Given the description of an element on the screen output the (x, y) to click on. 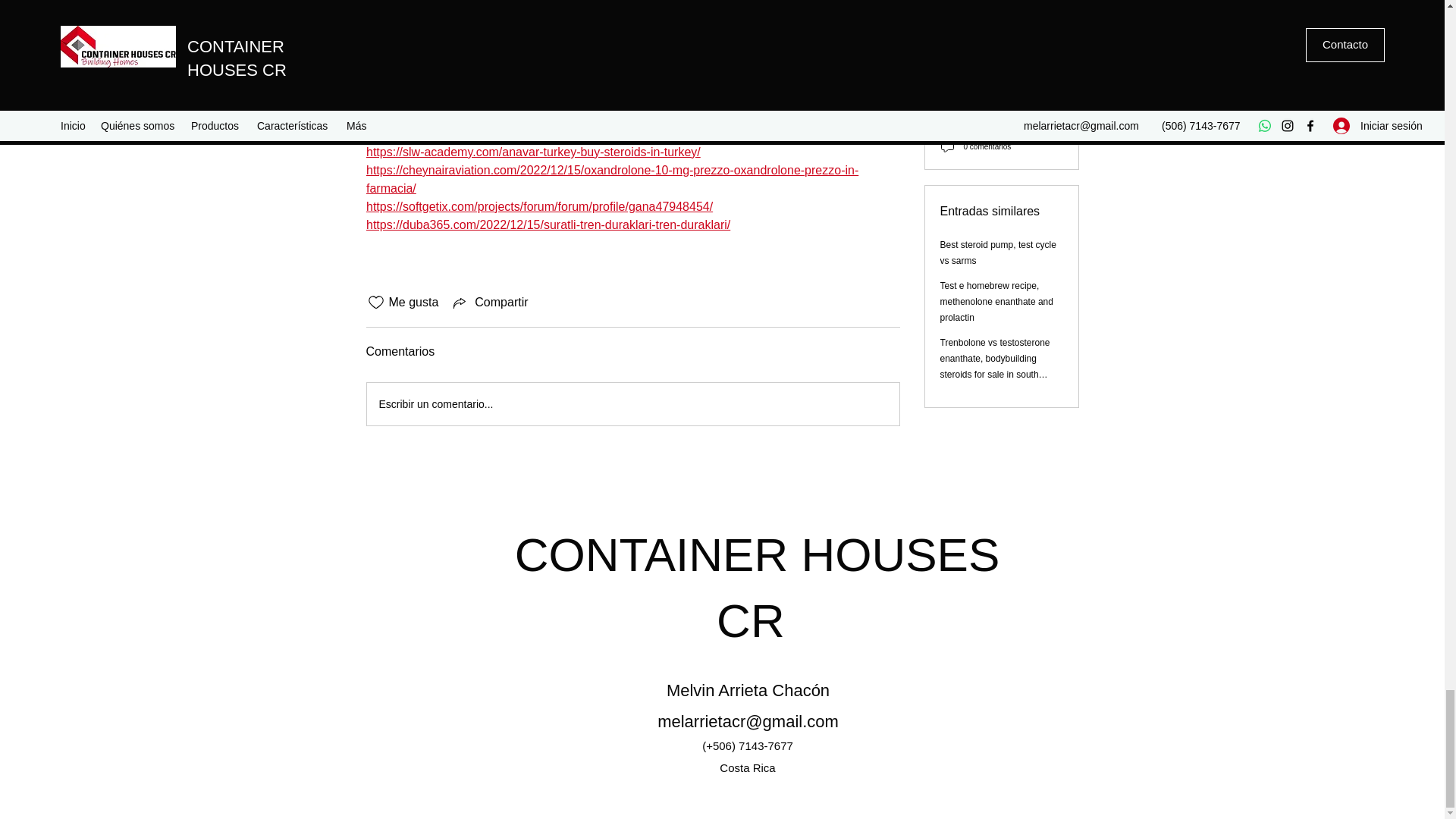
CONTAINER HOUSES CR  (757, 587)
Escribir un comentario... (632, 404)
Compartir (488, 302)
